Given the description of an element on the screen output the (x, y) to click on. 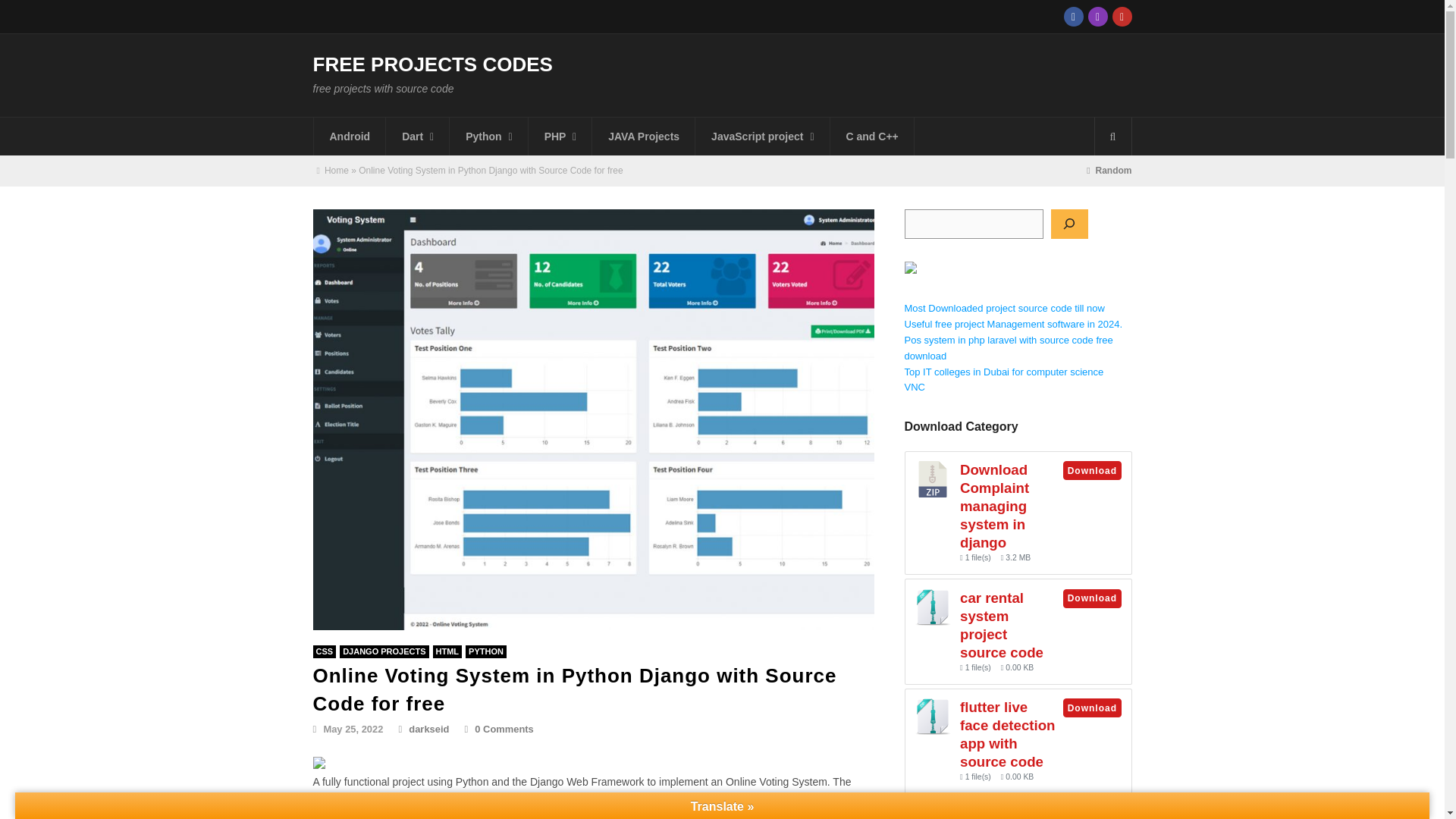
Android (350, 136)
Dart (417, 136)
DJANGO PROJECTS (383, 652)
JavaScript project (762, 136)
Youtube (1121, 16)
HTML (447, 652)
Python (485, 652)
FREE PROJECTS CODES (432, 64)
Instagram (1096, 16)
darkseid (422, 728)
